Given the description of an element on the screen output the (x, y) to click on. 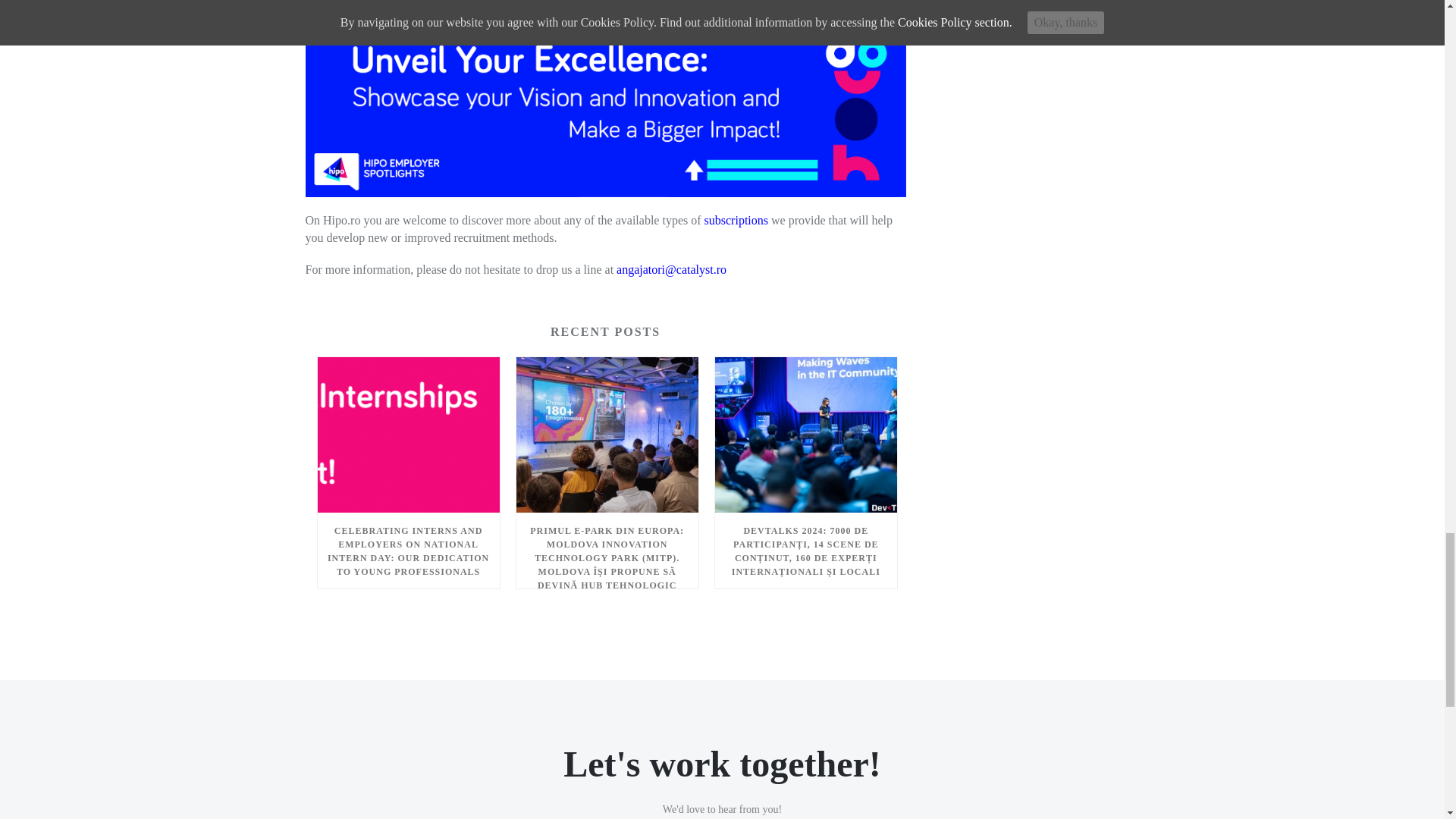
subscriptions (736, 219)
